Given the description of an element on the screen output the (x, y) to click on. 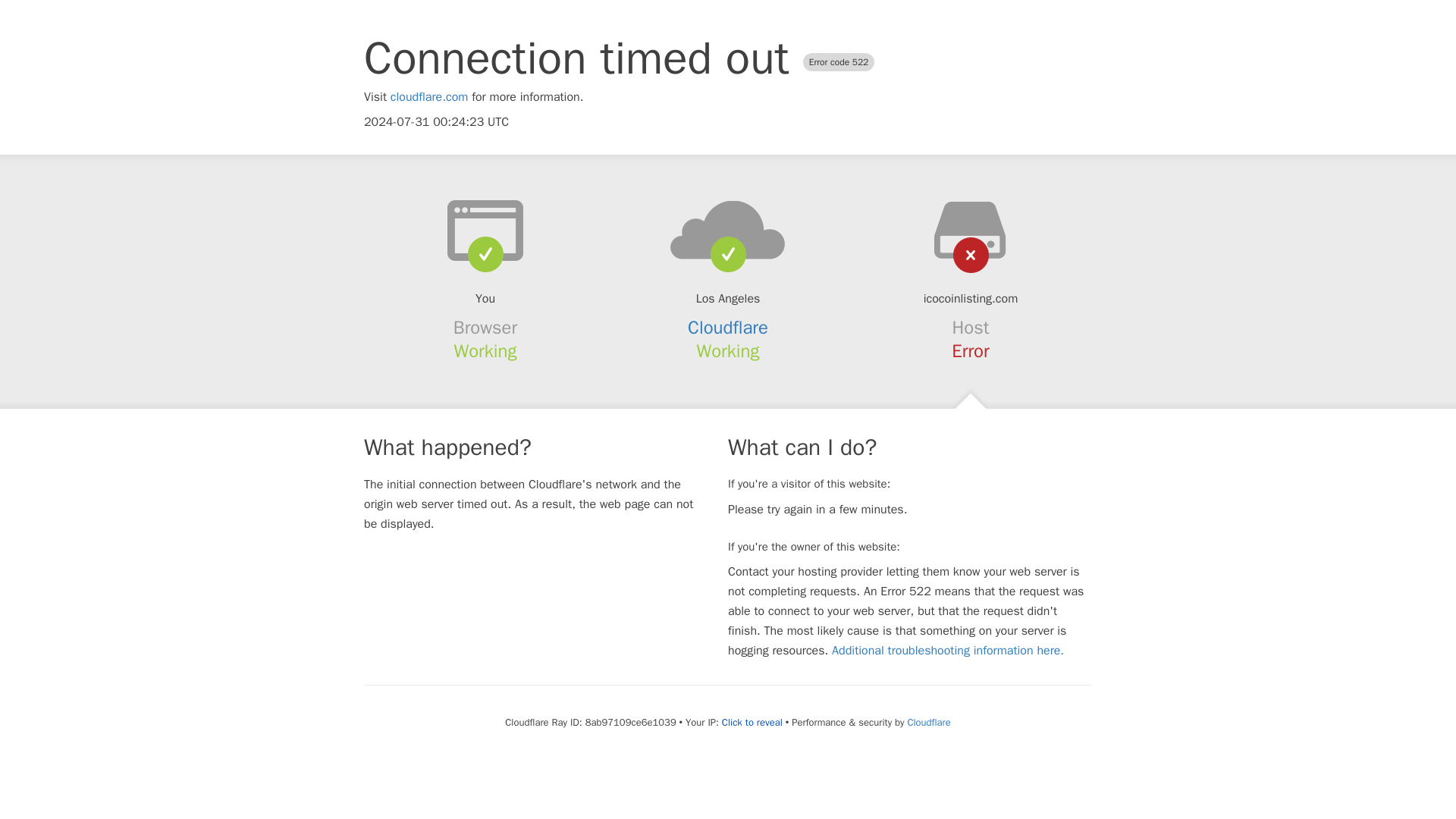
Additional troubleshooting information here. (947, 650)
Cloudflare (727, 327)
cloudflare.com (429, 96)
Click to reveal (752, 722)
Cloudflare (928, 721)
